Given the description of an element on the screen output the (x, y) to click on. 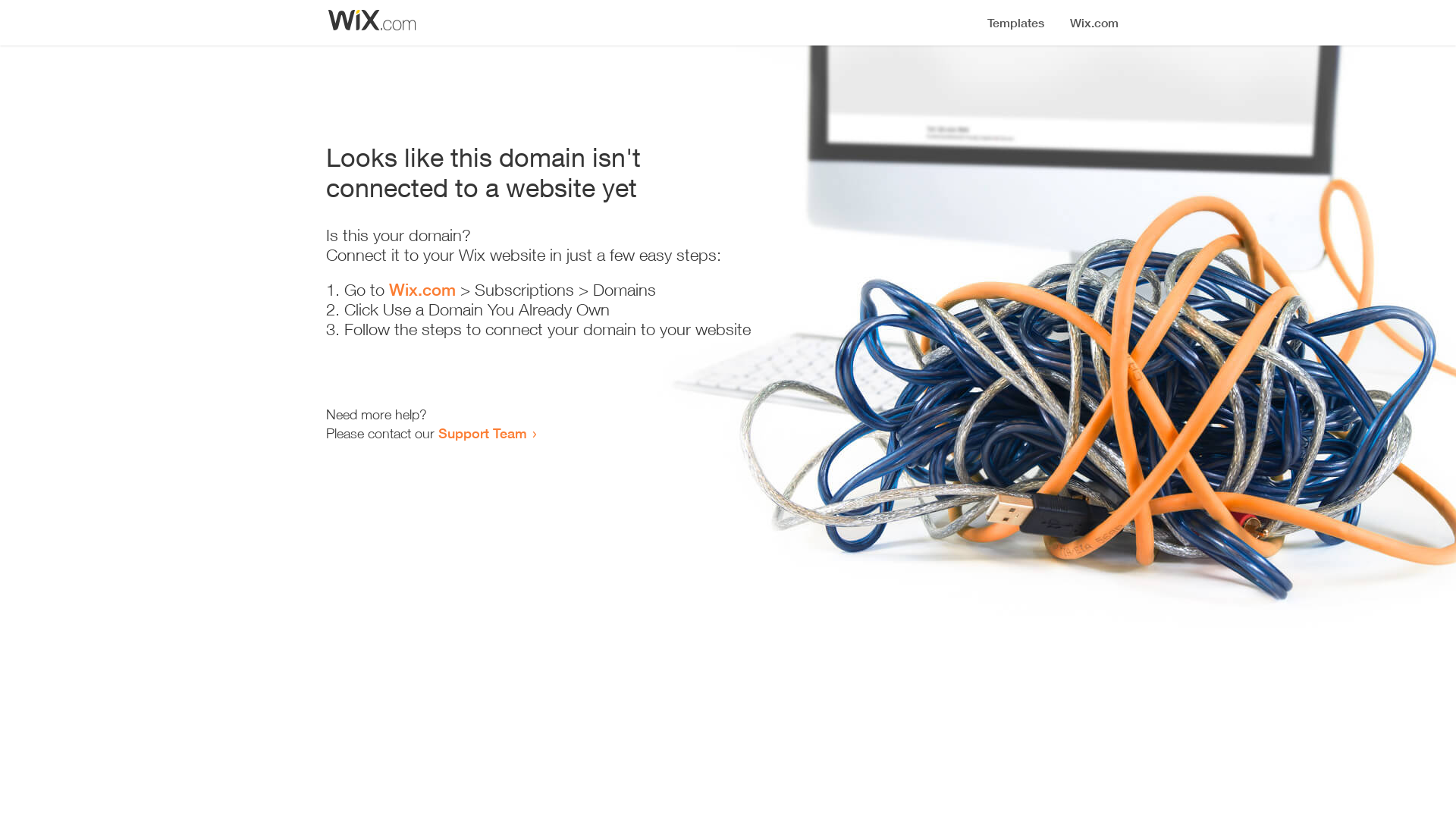
Wix.com Element type: text (422, 289)
Support Team Element type: text (482, 432)
